Given the description of an element on the screen output the (x, y) to click on. 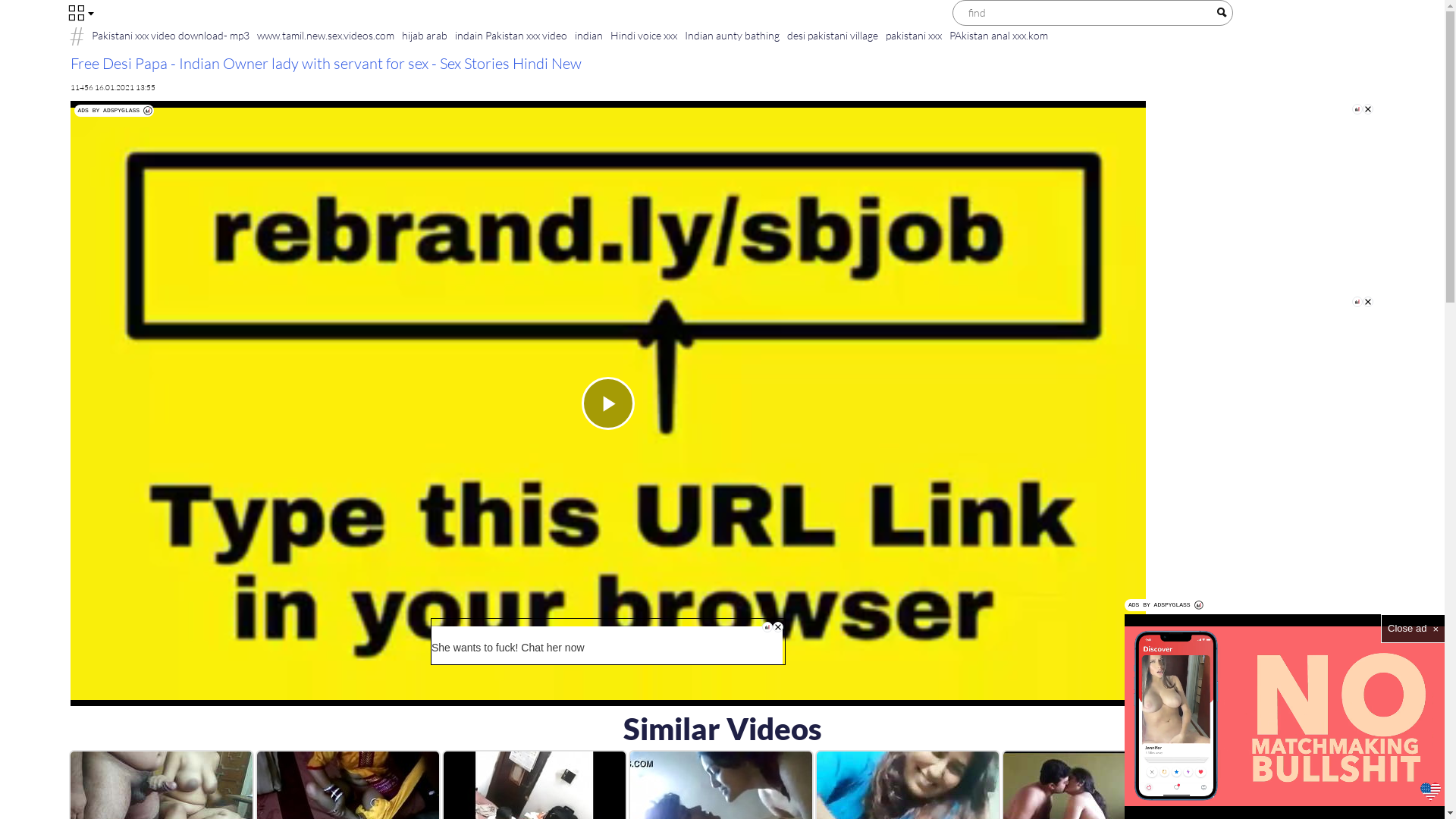
desi pakistani village Element type: text (831, 34)
Play Video Element type: text (606, 402)
ADS BY ADSPYGLASS Element type: text (1164, 605)
www.tamil.new.sex.videos.com Element type: text (325, 34)
Pakistani xxx video download- mp3 Element type: text (170, 34)
PAkistan anal xxx.kom Element type: text (997, 34)
pakistani xxx Element type: text (912, 34)
hijab arab Element type: text (423, 34)
Hindi voice xxx Element type: text (643, 34)
ADS BY ADSPYGLASS Element type: text (114, 110)
Indian aunty bathing Element type: text (731, 34)
indian Element type: text (587, 34)
indain Pakistan xxx video Element type: text (510, 34)
